Given the description of an element on the screen output the (x, y) to click on. 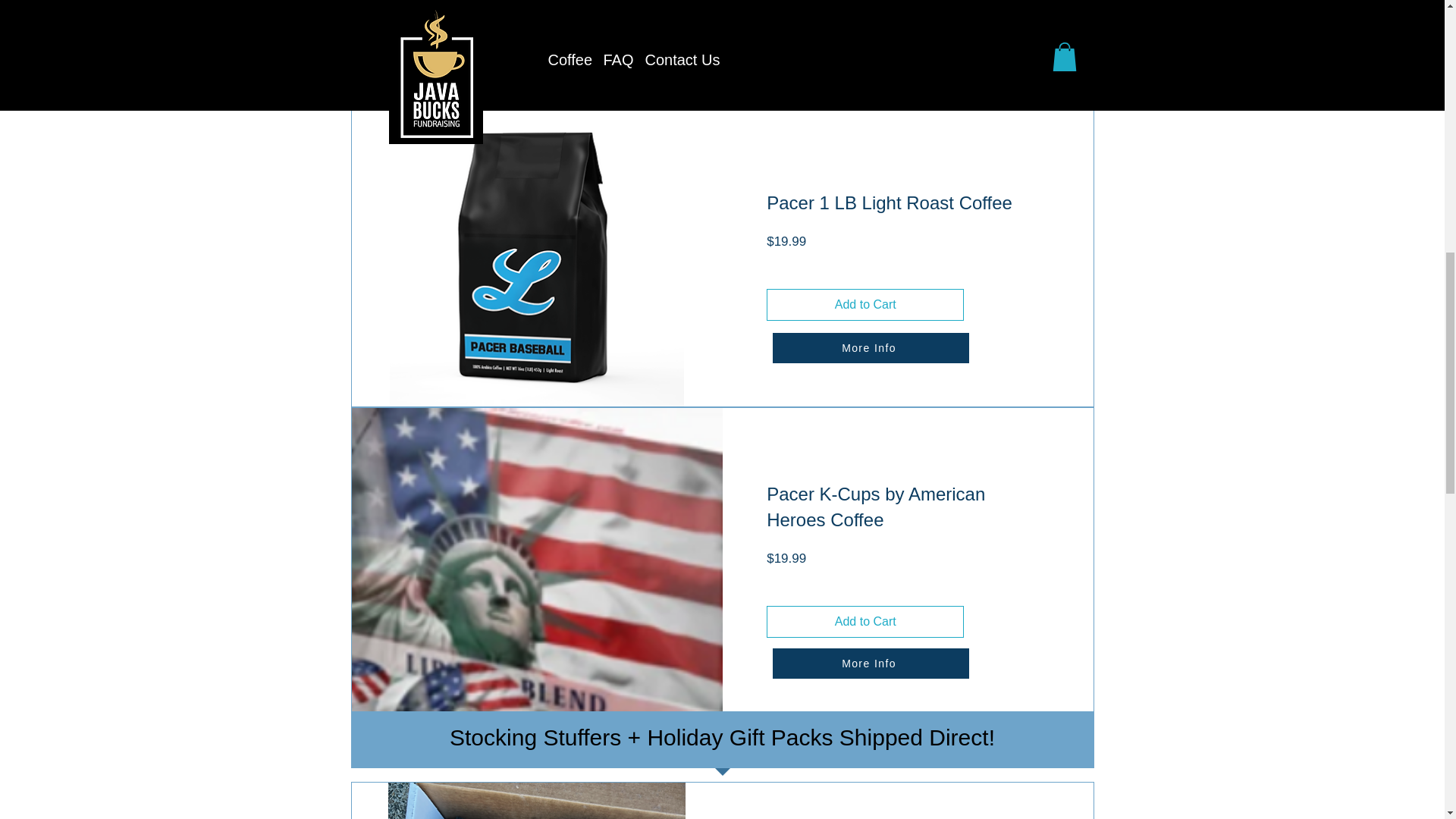
Add to Cart (865, 305)
Add to Cart (865, 622)
More Info (869, 42)
More Info (869, 347)
Add to Cart (865, 8)
More Info (869, 663)
